Given the description of an element on the screen output the (x, y) to click on. 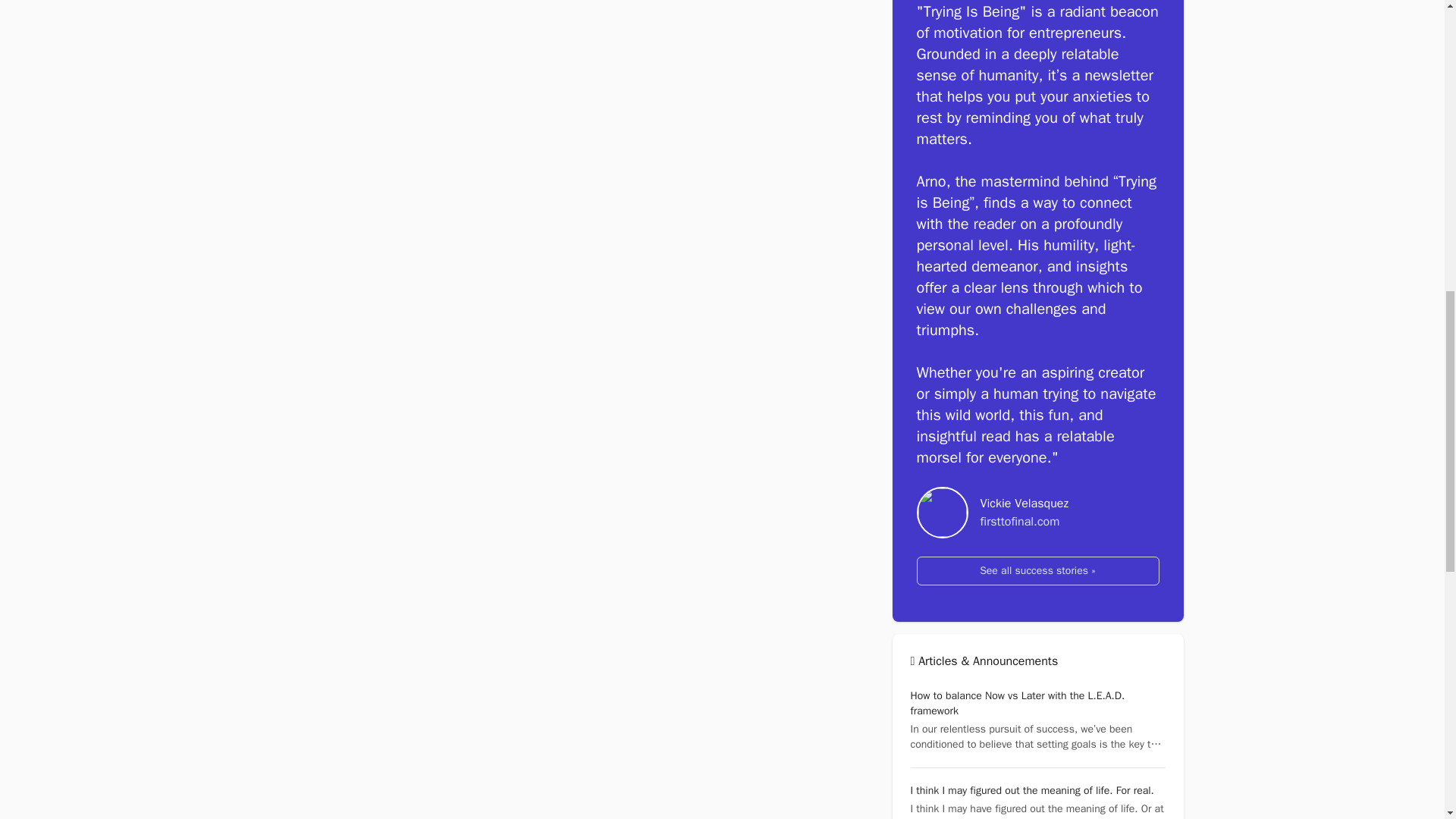
I think I may figured out the meaning of life. For real. (1031, 789)
How to balance Now vs Later with the L.E.A.D. framework (1017, 703)
